Given the description of an element on the screen output the (x, y) to click on. 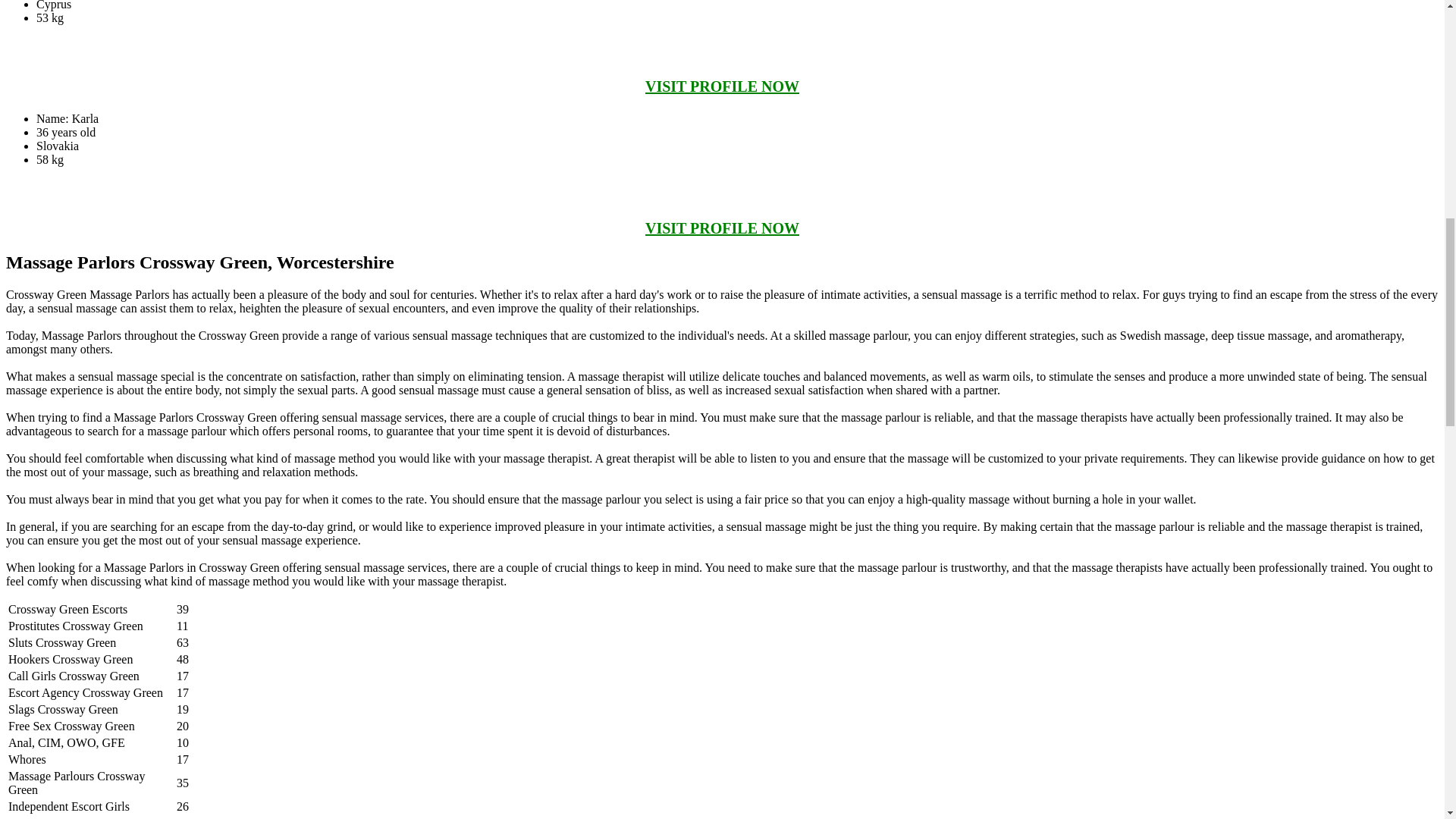
VISIT PROFILE NOW (722, 228)
VISIT PROFILE NOW (722, 86)
